Given the description of an element on the screen output the (x, y) to click on. 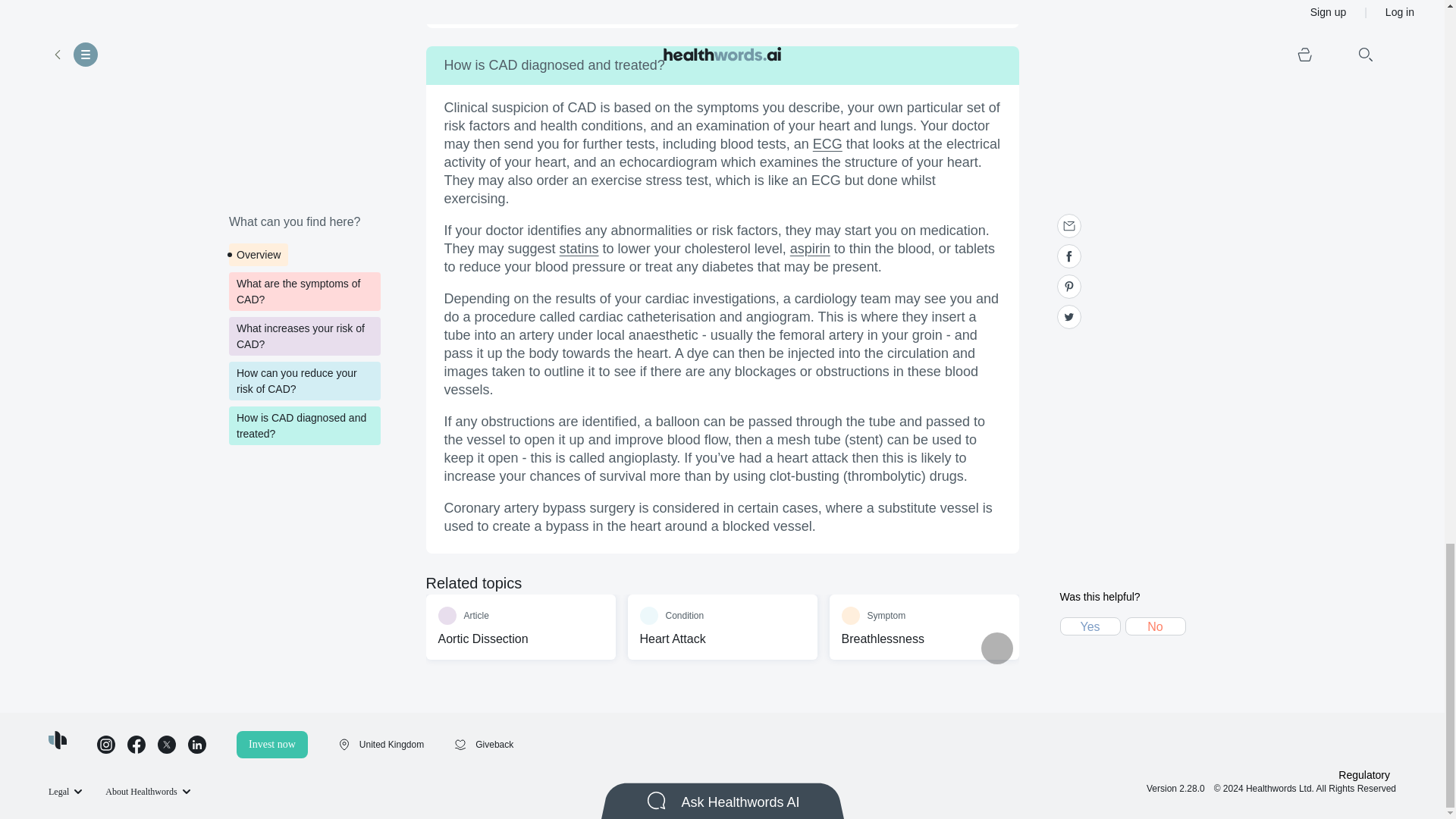
aspirin (809, 248)
ECG (827, 143)
No (521, 626)
statins (722, 626)
Yes (1155, 626)
